Given the description of an element on the screen output the (x, y) to click on. 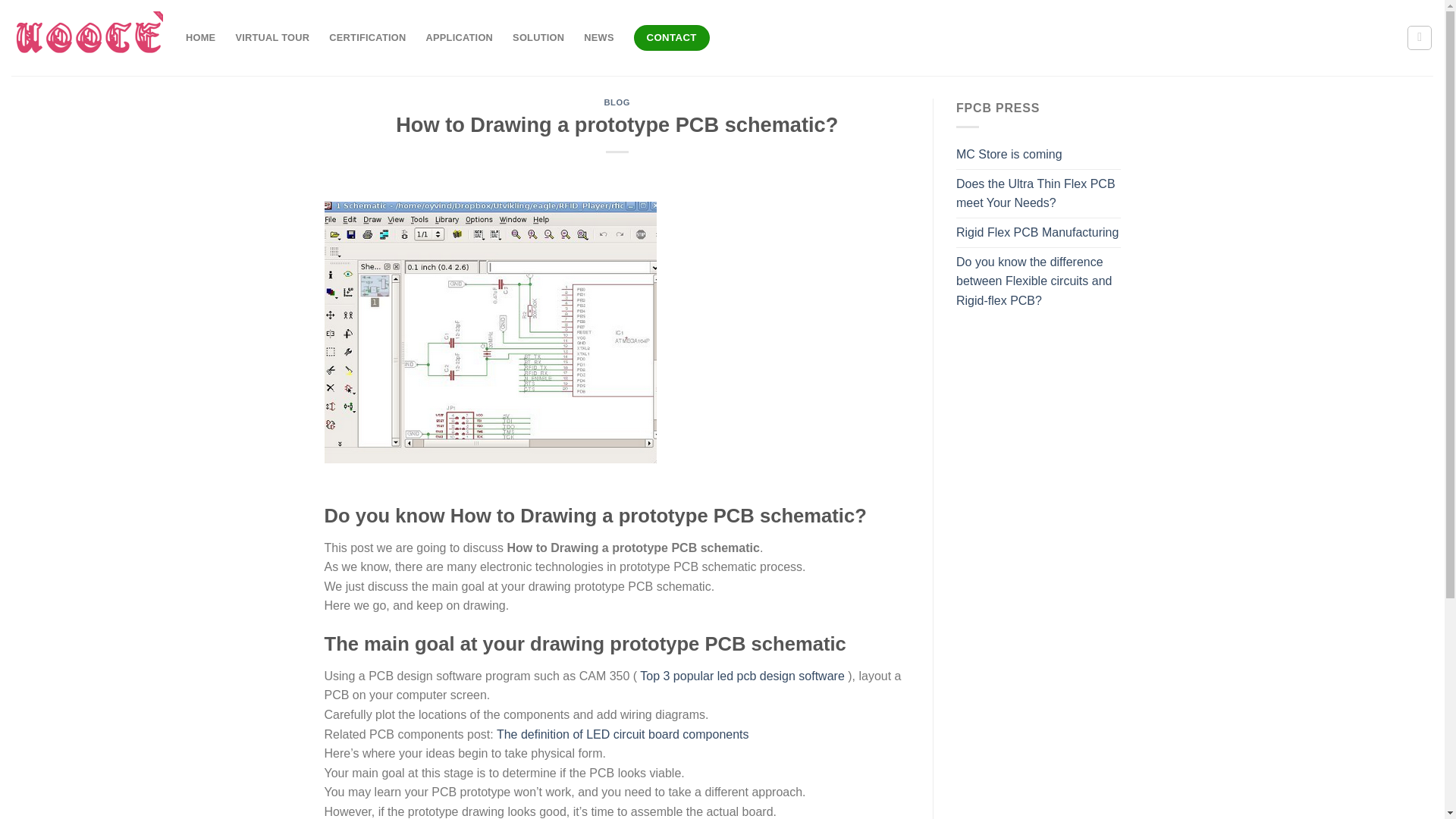
Top 3 popular led pcb design software (742, 675)
SOLUTION (538, 37)
BLOG (617, 102)
NEWS (597, 37)
MC Store is coming (1009, 154)
The definition of LED circuit board components (622, 734)
VIRTUAL TOUR (271, 37)
HOME (200, 37)
CERTIFICATION (367, 37)
Rigid Flex PCB Manufacturing (1037, 232)
CONTACT (671, 37)
APPLICATION (459, 37)
Does the Ultra Thin Flex PCB meet Your Needs? (1038, 193)
